Given the description of an element on the screen output the (x, y) to click on. 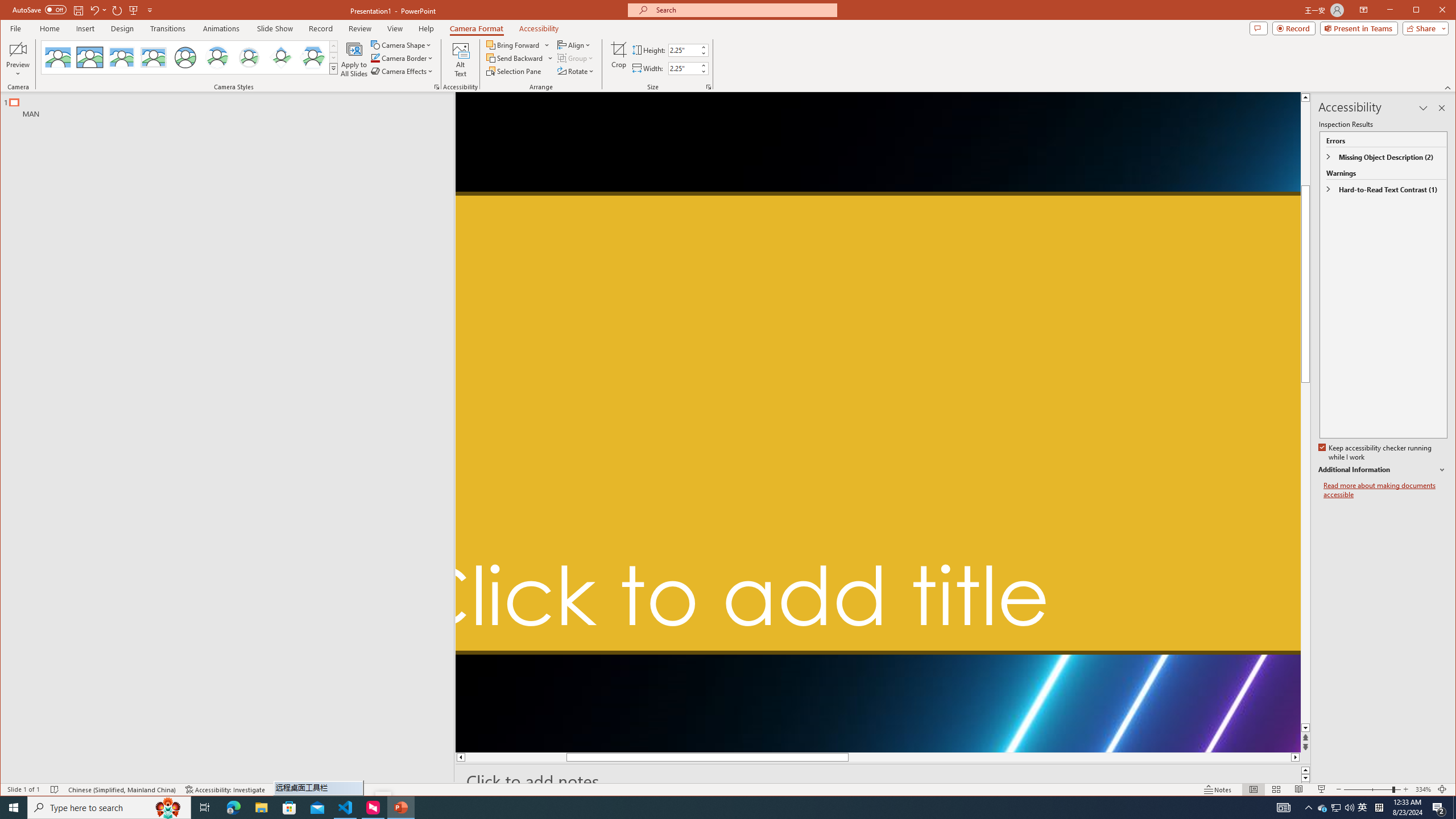
Bring Forward (517, 44)
Cameo Width (683, 68)
Align (1322, 807)
